Given the description of an element on the screen output the (x, y) to click on. 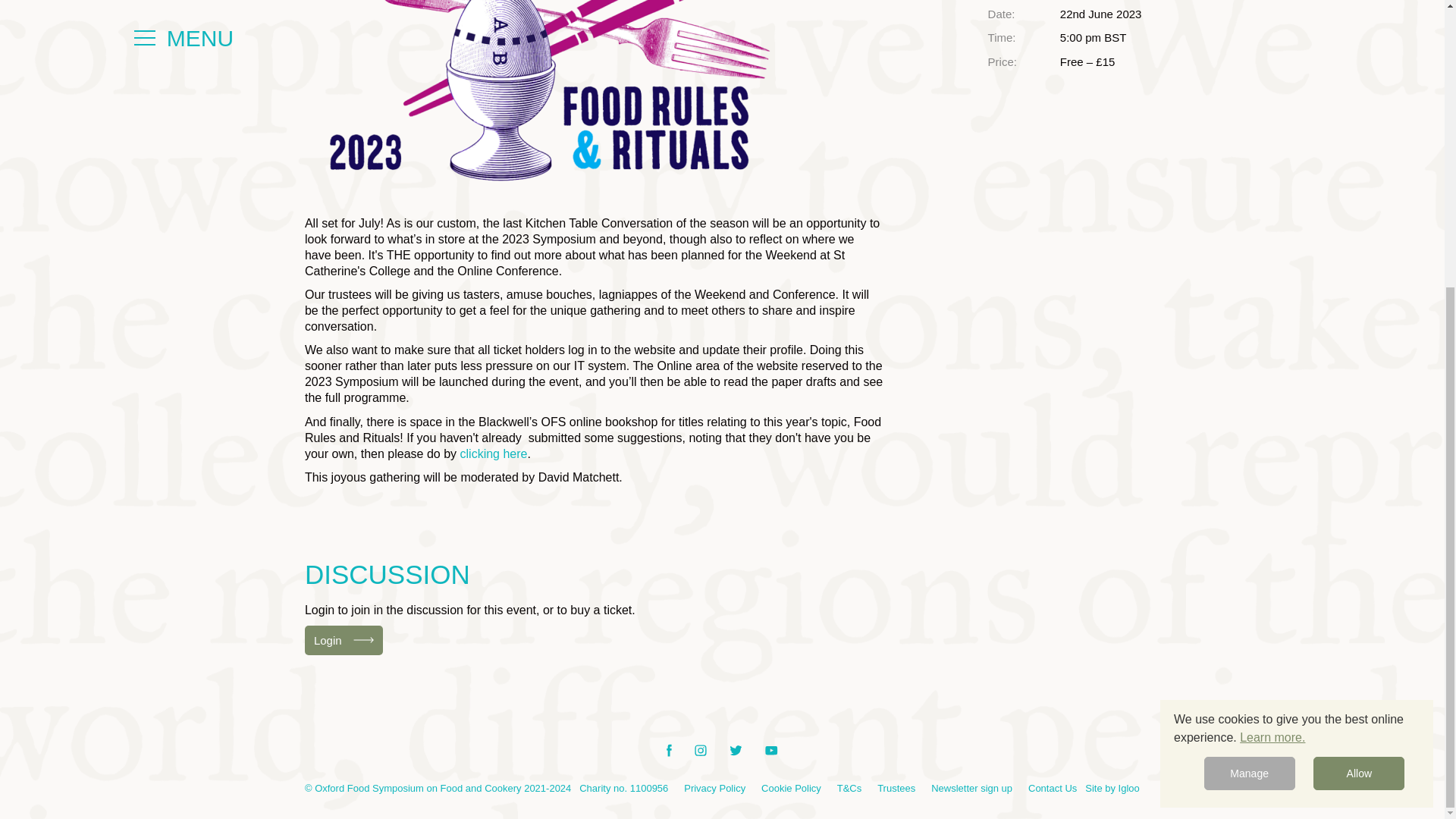
2023-06-22 (1133, 37)
Login (343, 640)
clicking here (493, 453)
2023-06-22 (1100, 13)
